Given the description of an element on the screen output the (x, y) to click on. 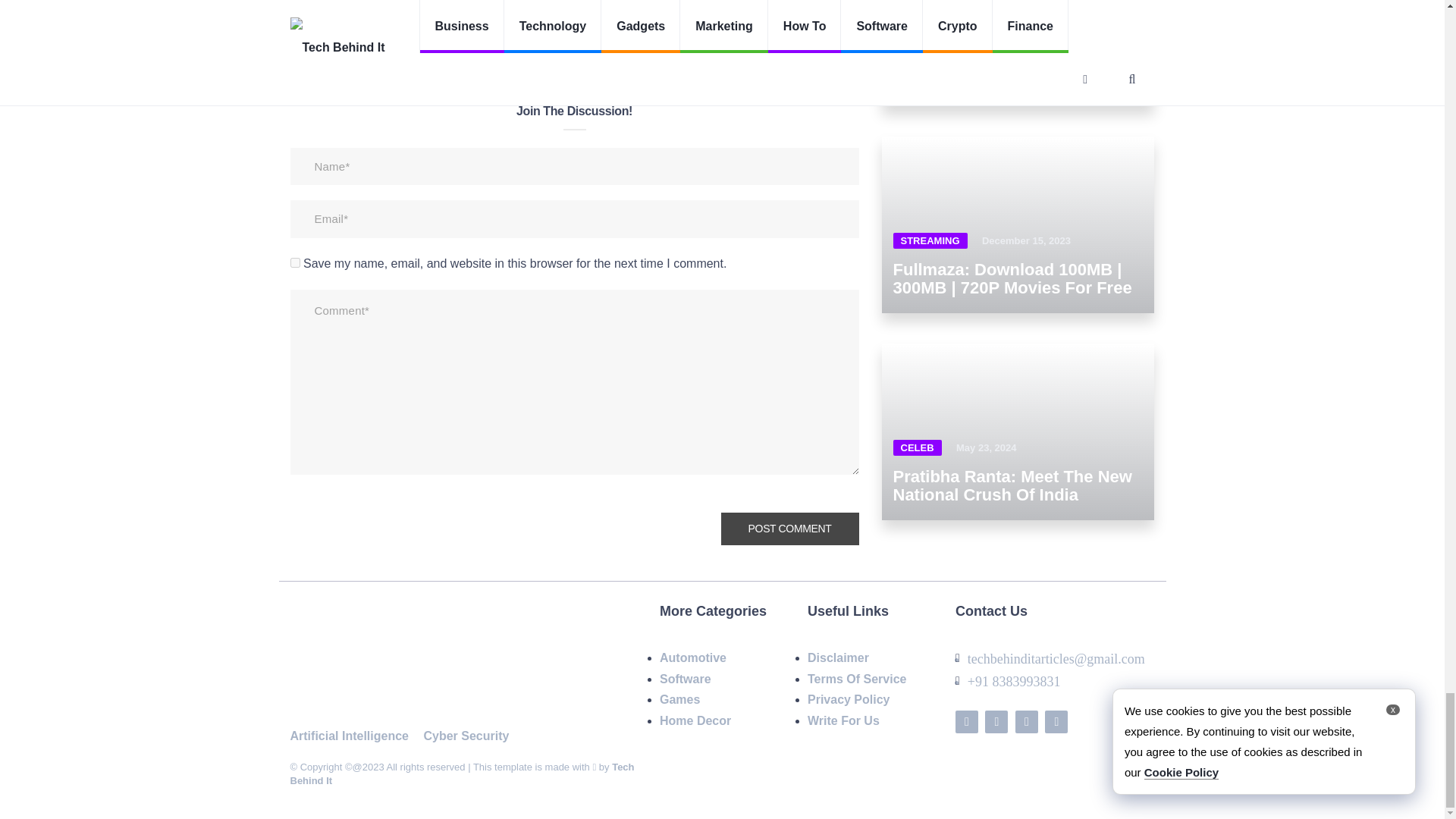
yes (294, 262)
Top 10 Free Email Trackers For Gmail (574, 4)
Post Comment (789, 528)
Top Ai writing Tools To Easily Write Informative Articles (763, 21)
